Given the description of an element on the screen output the (x, y) to click on. 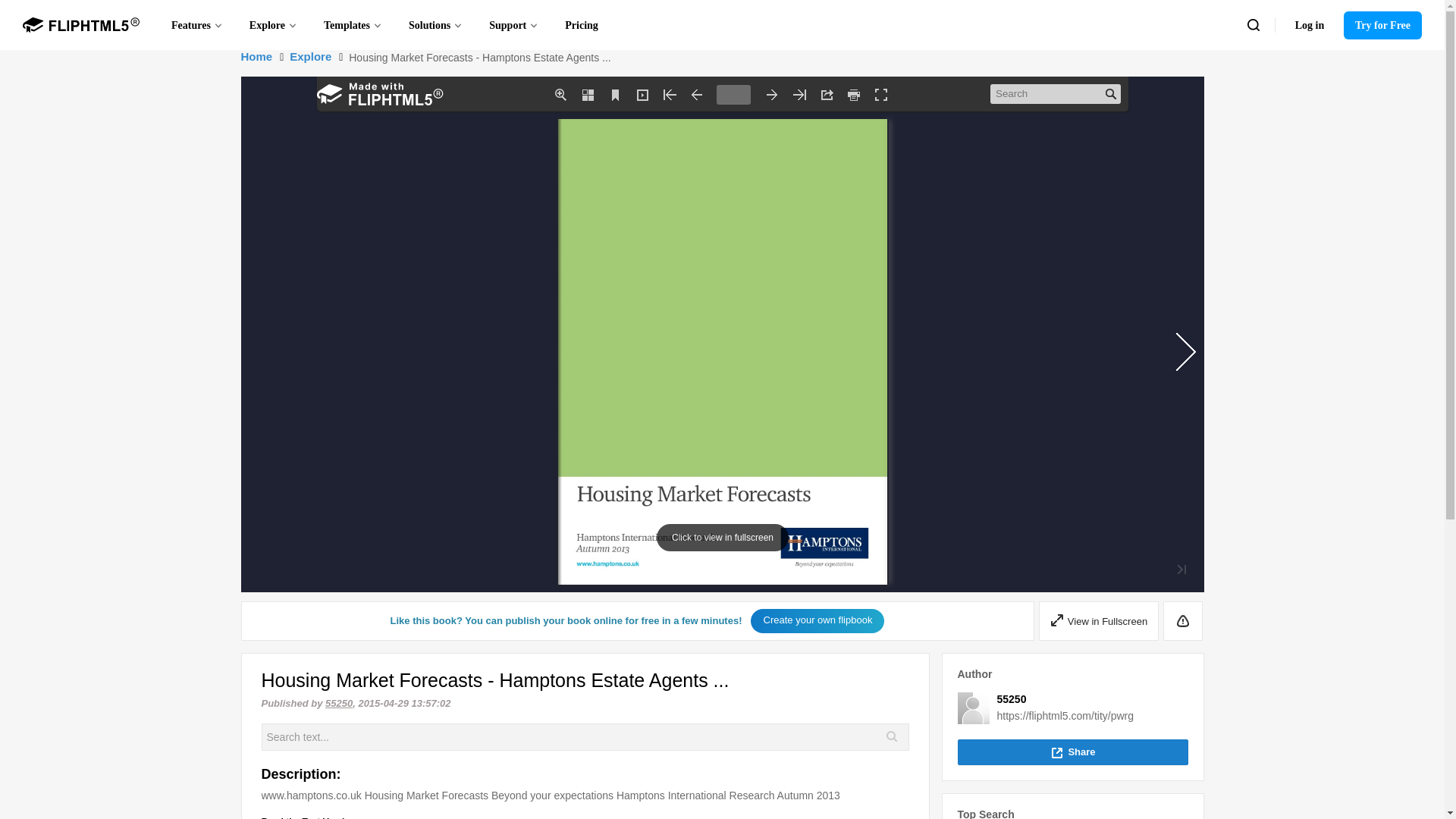
Features (196, 24)
Explore (272, 24)
Report this book to us (1182, 620)
Visit its homepage (972, 707)
Visit its homepage (1010, 698)
